Given the description of an element on the screen output the (x, y) to click on. 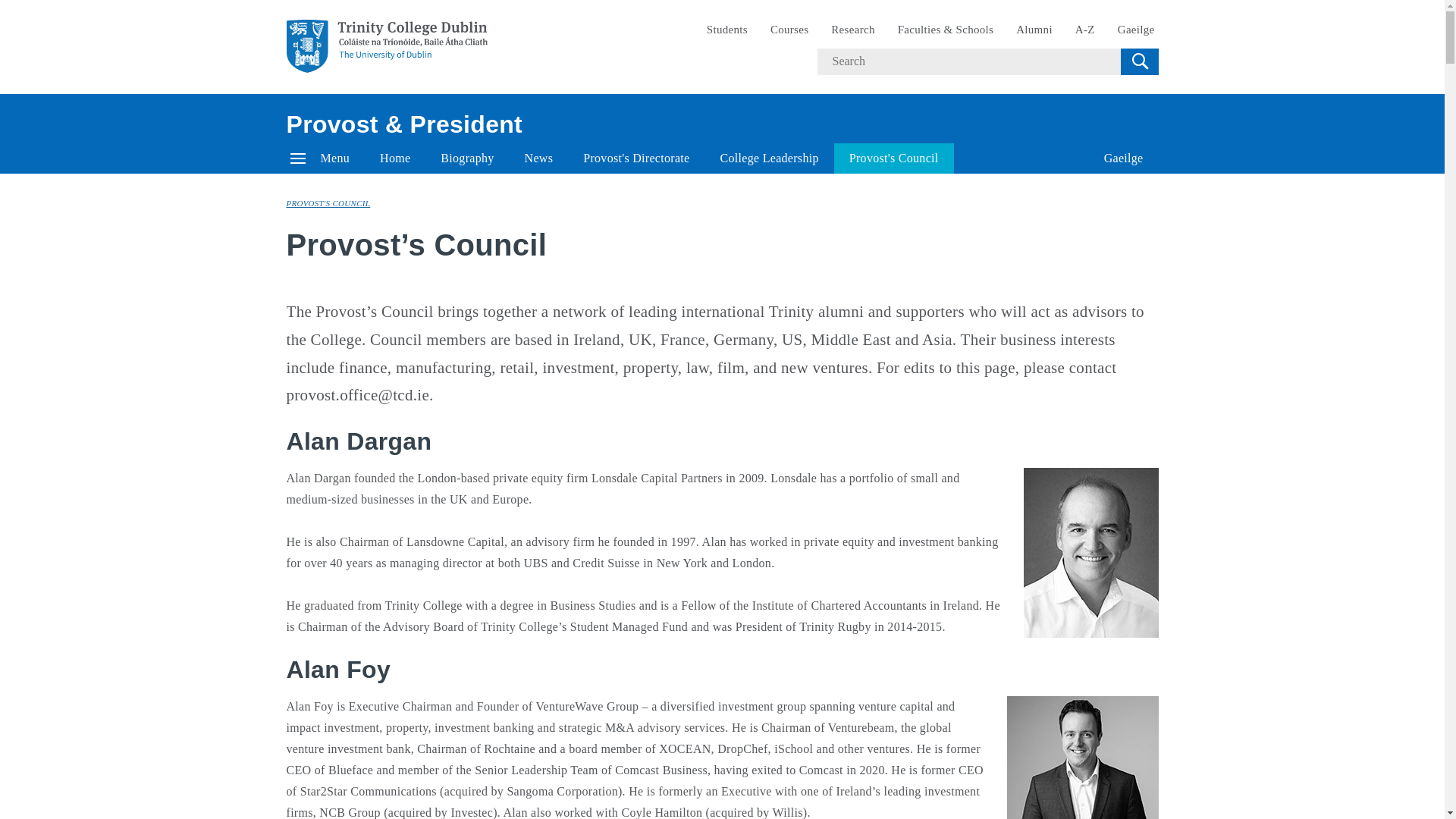
Provost's Directorate (635, 158)
Gaeilge (1123, 158)
Biography (466, 158)
A-Z (1085, 29)
Alumni (1034, 29)
College Leadership (769, 158)
Research (852, 29)
Gaeilge (1135, 29)
Courses (789, 29)
Search (1139, 61)
